Given the description of an element on the screen output the (x, y) to click on. 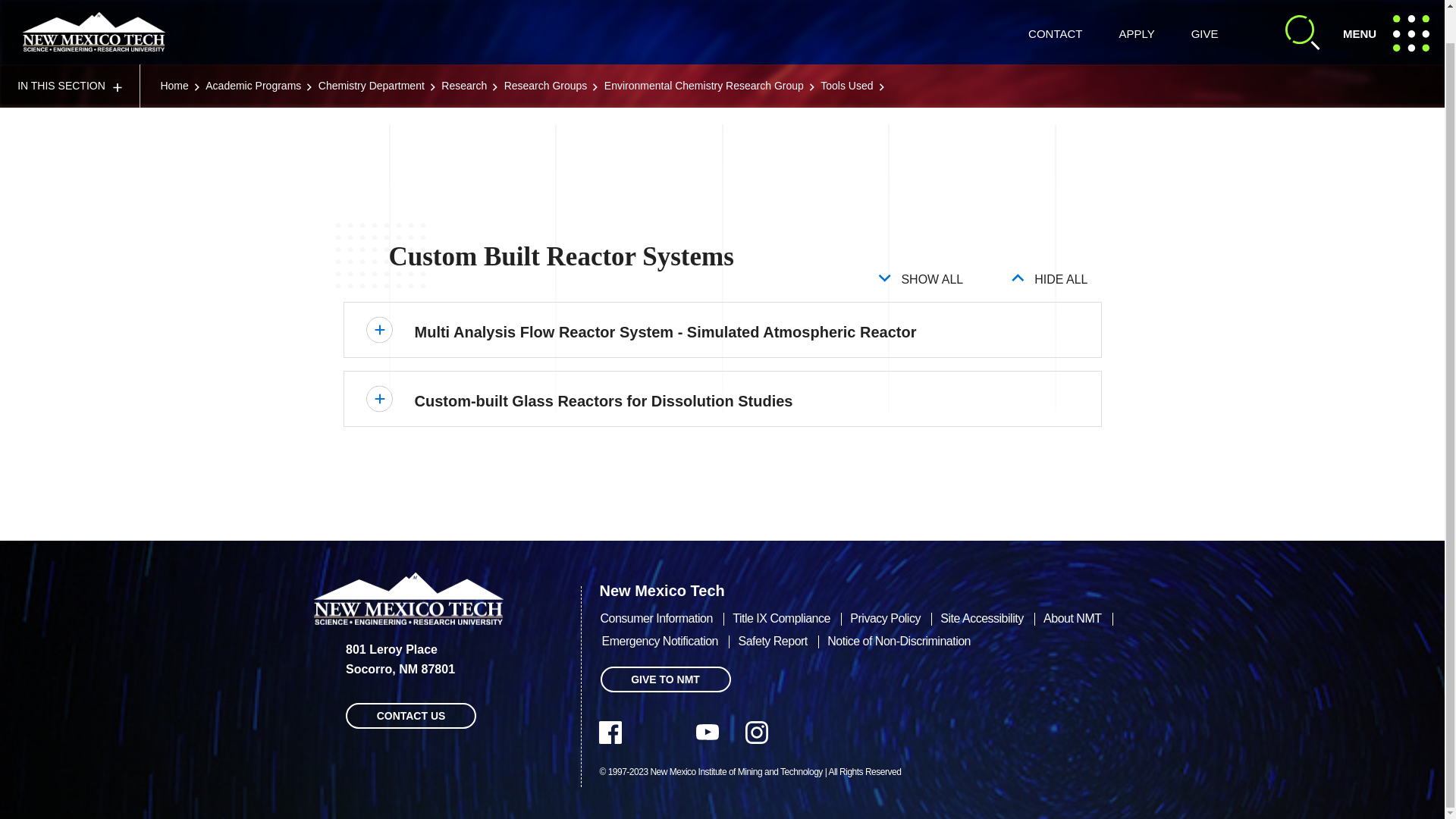
Chemistry Department (1391, 15)
Environmental Chemistry Research Group (371, 51)
Academic Programs (703, 51)
IN THIS SECTION (253, 51)
expand search (69, 51)
APPLY (1303, 15)
Home (1135, 7)
GIVE (173, 51)
Research Groups (1204, 7)
